Given the description of an element on the screen output the (x, y) to click on. 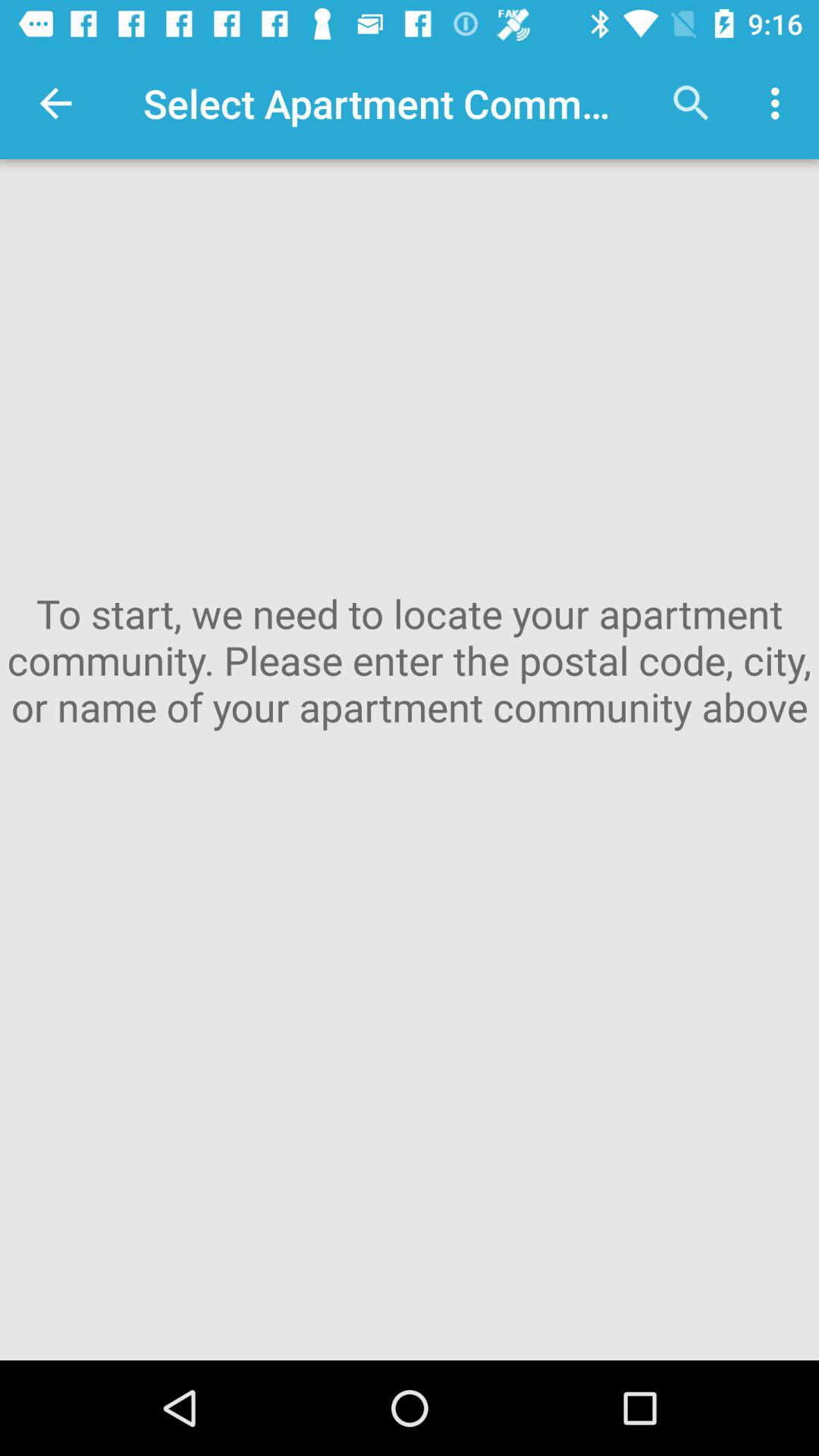
press icon to the right of the select apartment community app (691, 103)
